Given the description of an element on the screen output the (x, y) to click on. 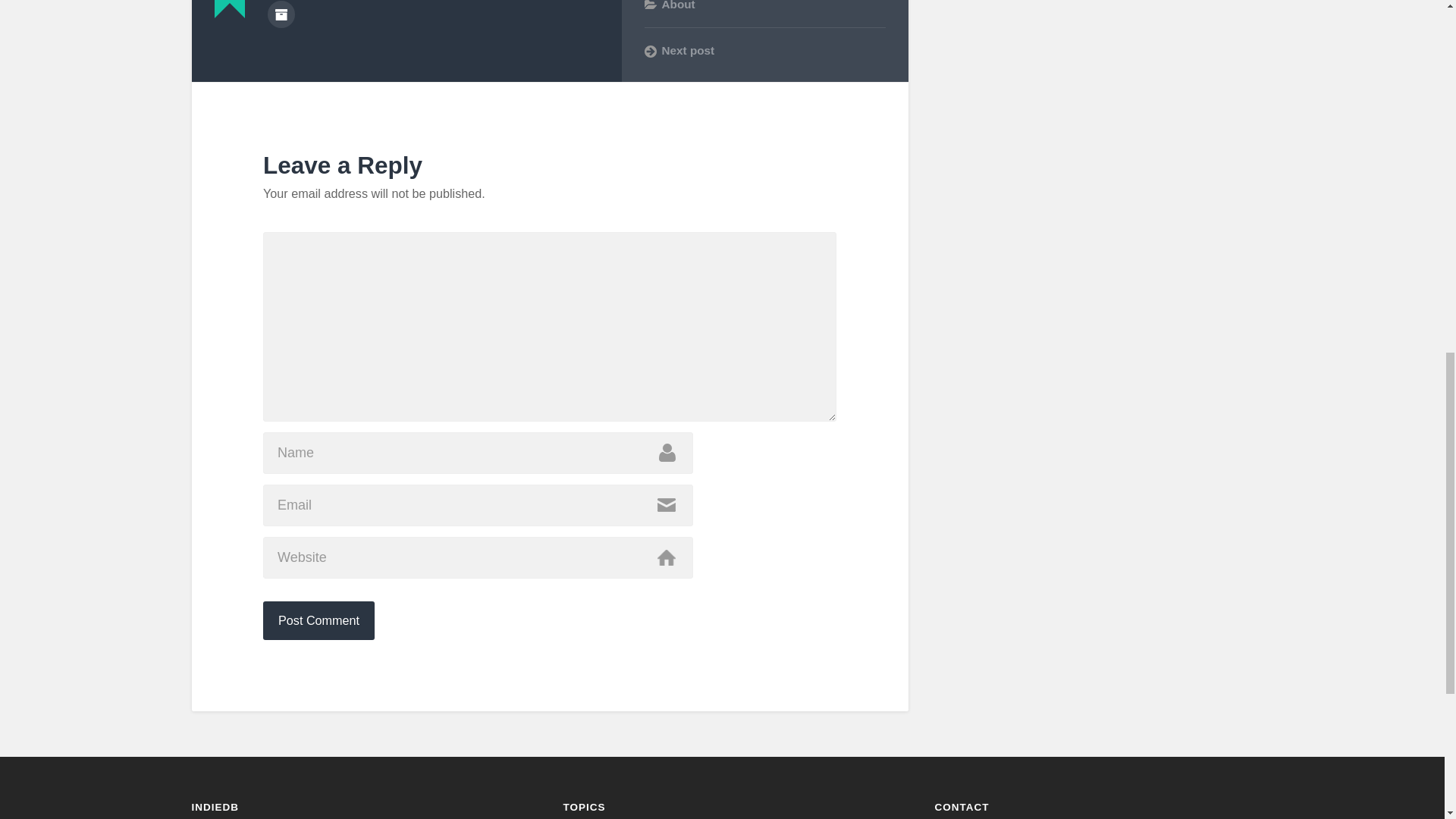
Post Comment (318, 620)
Post Comment (318, 620)
About (677, 5)
Next post (765, 50)
Author archive (280, 13)
Author archive (280, 13)
Next post: About the game (765, 50)
